Given the description of an element on the screen output the (x, y) to click on. 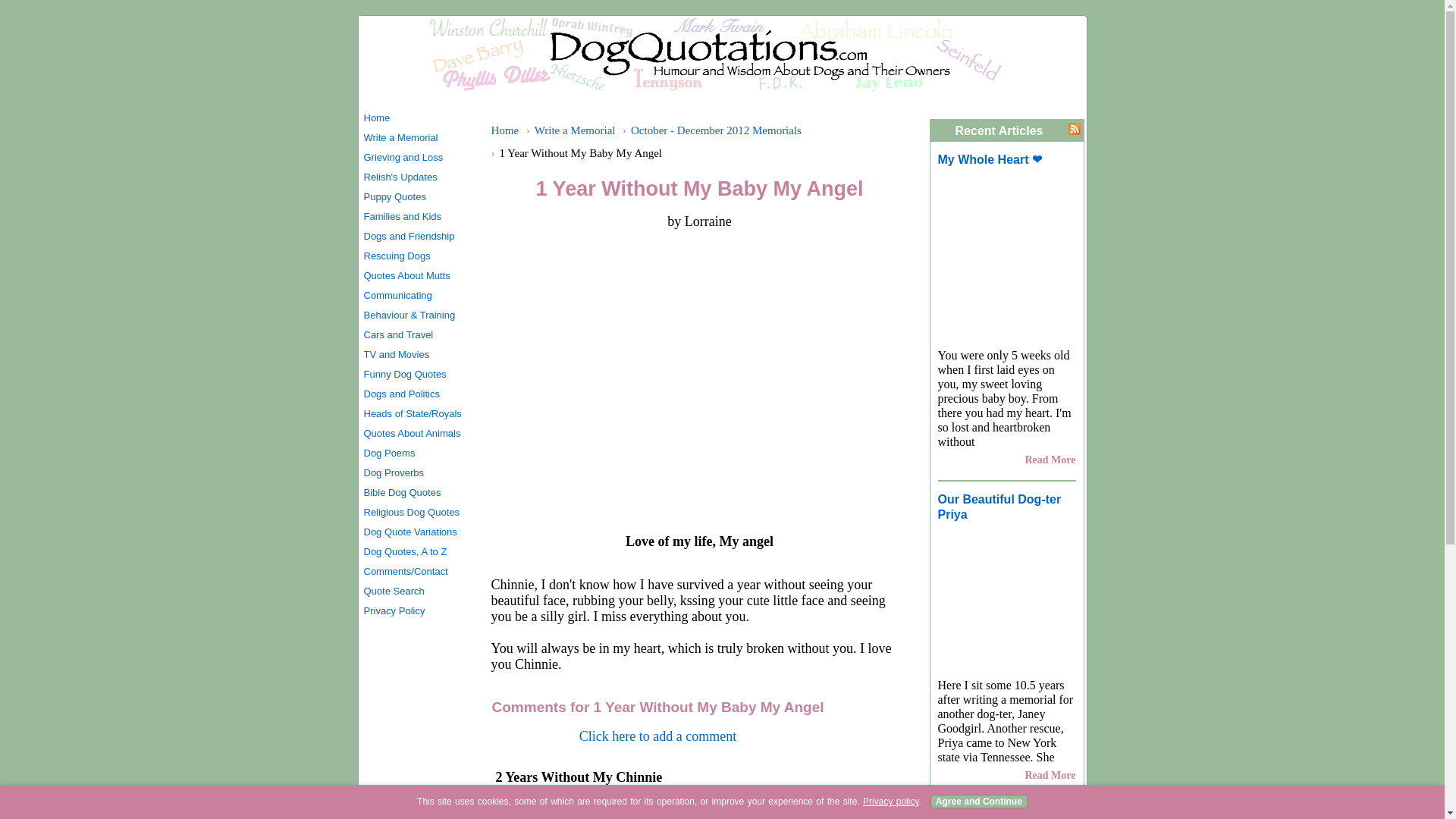
Religious Dog Quotes (419, 512)
Dog Quotes, A to Z (419, 551)
Puppy Quotes (419, 197)
Quotes About Animals (419, 433)
Read More (1050, 460)
Quote Search (419, 591)
October - December 2012 Memorials (716, 130)
Dogs and Friendship (419, 236)
Dog Proverbs (419, 473)
Privacy Policy (419, 610)
Relish's Updates (419, 177)
Love of my life, My angel (698, 379)
Click here to add a comment (657, 735)
Cars and Travel (419, 334)
Home (505, 130)
